Given the description of an element on the screen output the (x, y) to click on. 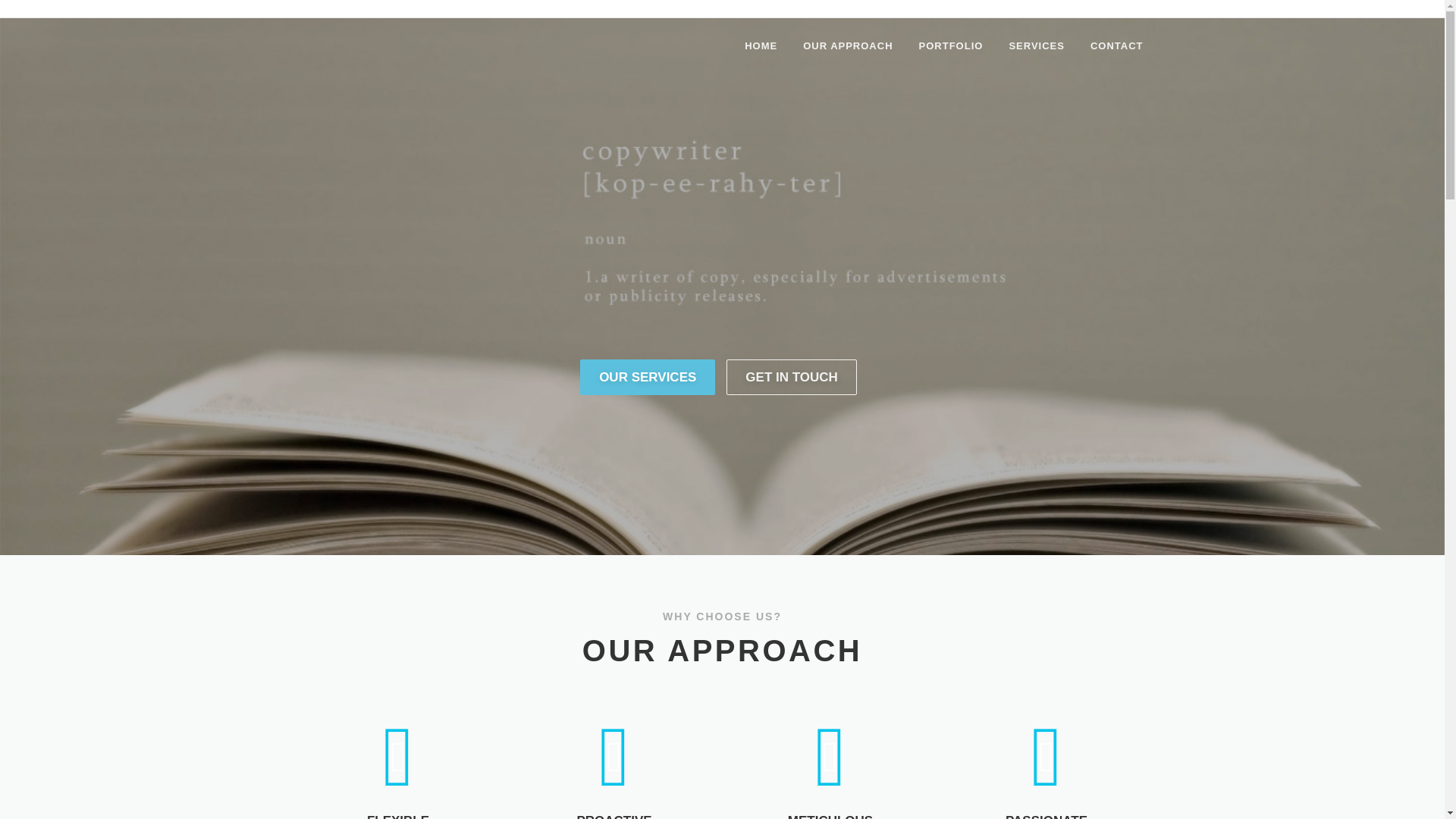
CONTACT (1109, 45)
SERVICES (1036, 45)
PORTFOLIO (950, 45)
HOME (761, 45)
OUR APPROACH (847, 45)
GET IN TOUCH (791, 376)
OUR SERVICES (646, 376)
